Given the description of an element on the screen output the (x, y) to click on. 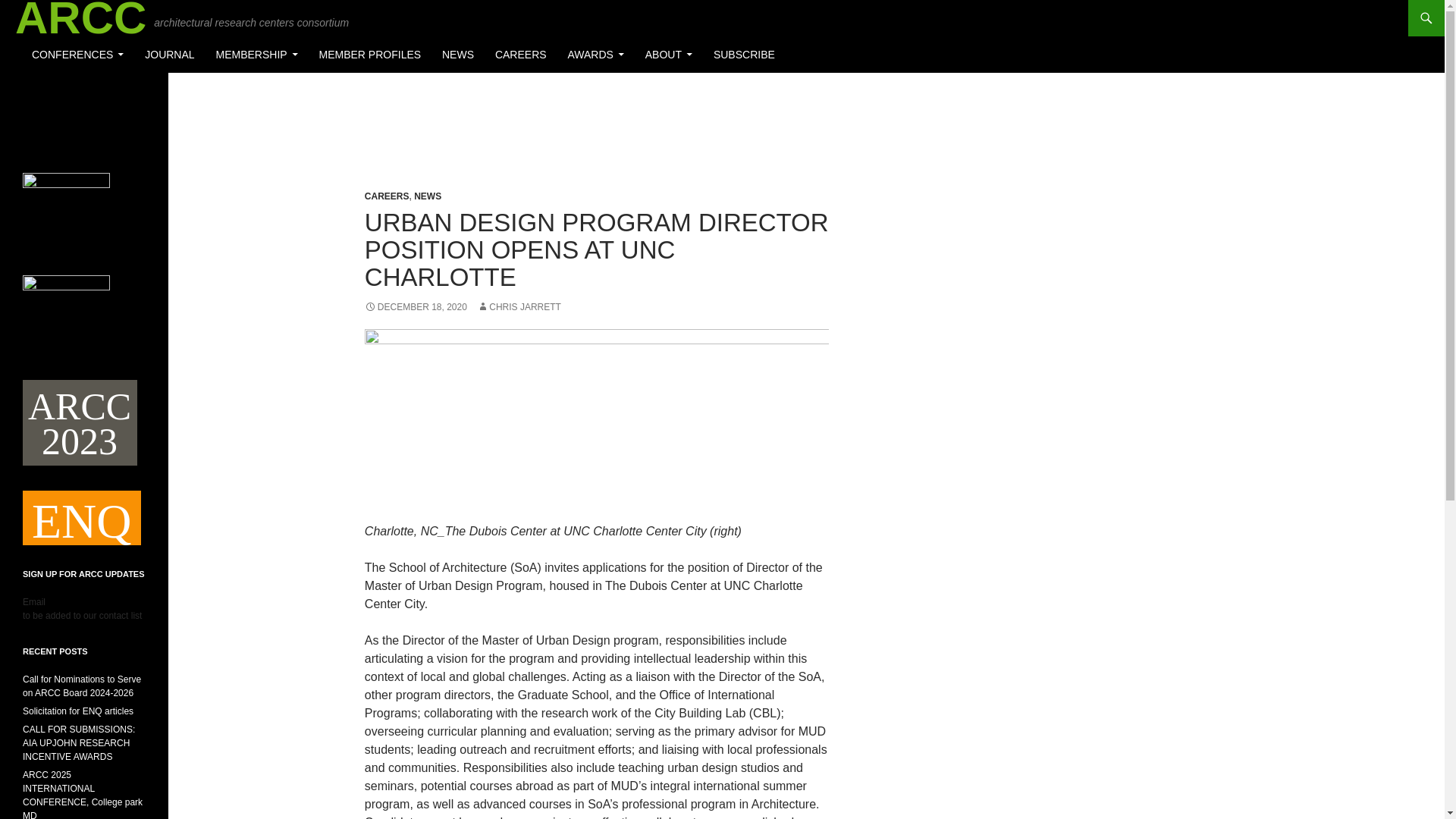
DECEMBER 18, 2020 (416, 307)
NEWS (427, 195)
AWARDS (594, 54)
JOURNAL (169, 54)
MEMBER PROFILES (370, 54)
MEMBERSHIP (255, 54)
ABOUT (668, 54)
CHRIS JARRETT (518, 307)
CAREERS (387, 195)
NEWS (457, 54)
